Given the description of an element on the screen output the (x, y) to click on. 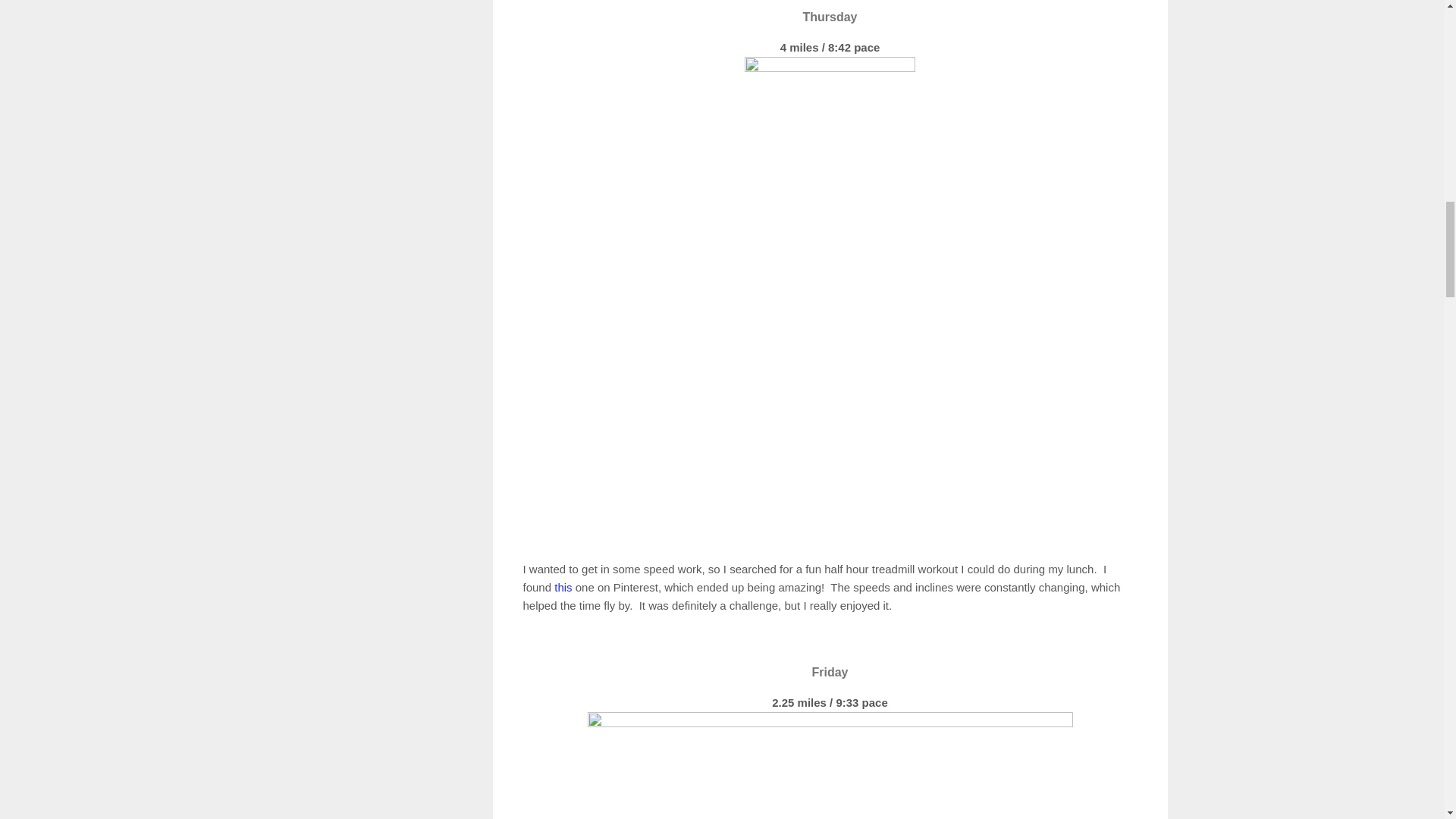
this (563, 586)
